Given the description of an element on the screen output the (x, y) to click on. 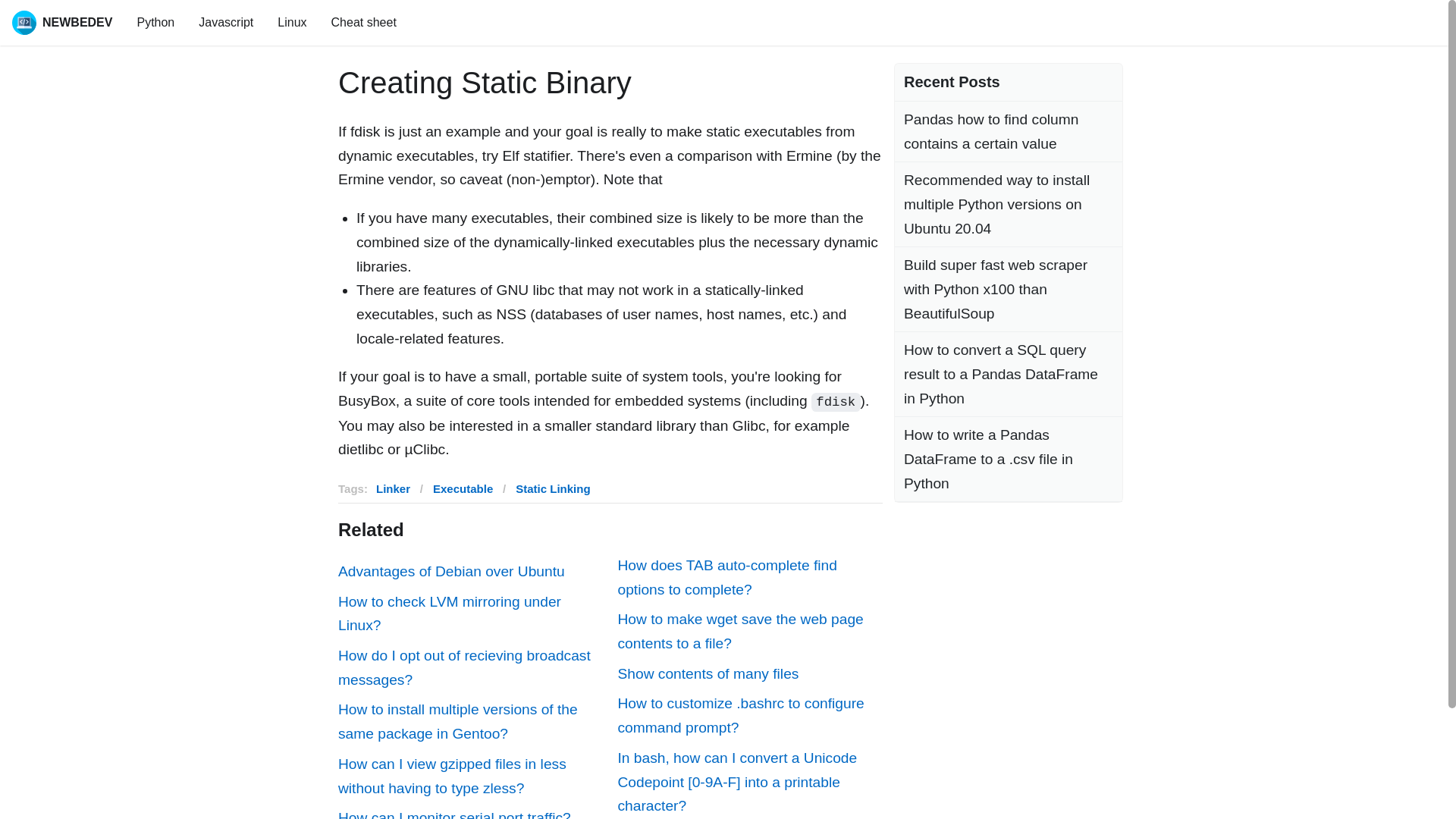
How to customize .bashrc to configure command prompt? (749, 715)
How to make wget save the web page contents to a file? (749, 631)
How does TAB auto-complete find options to complete? (749, 577)
NEWBEDEV (61, 22)
How do I opt out of recieving broadcast messages? (470, 667)
Static Linking (552, 488)
How can I monitor serial port traffic? (470, 812)
Linux (291, 22)
Show contents of many files (749, 673)
Javascript (225, 22)
Executable (462, 488)
